Given the description of an element on the screen output the (x, y) to click on. 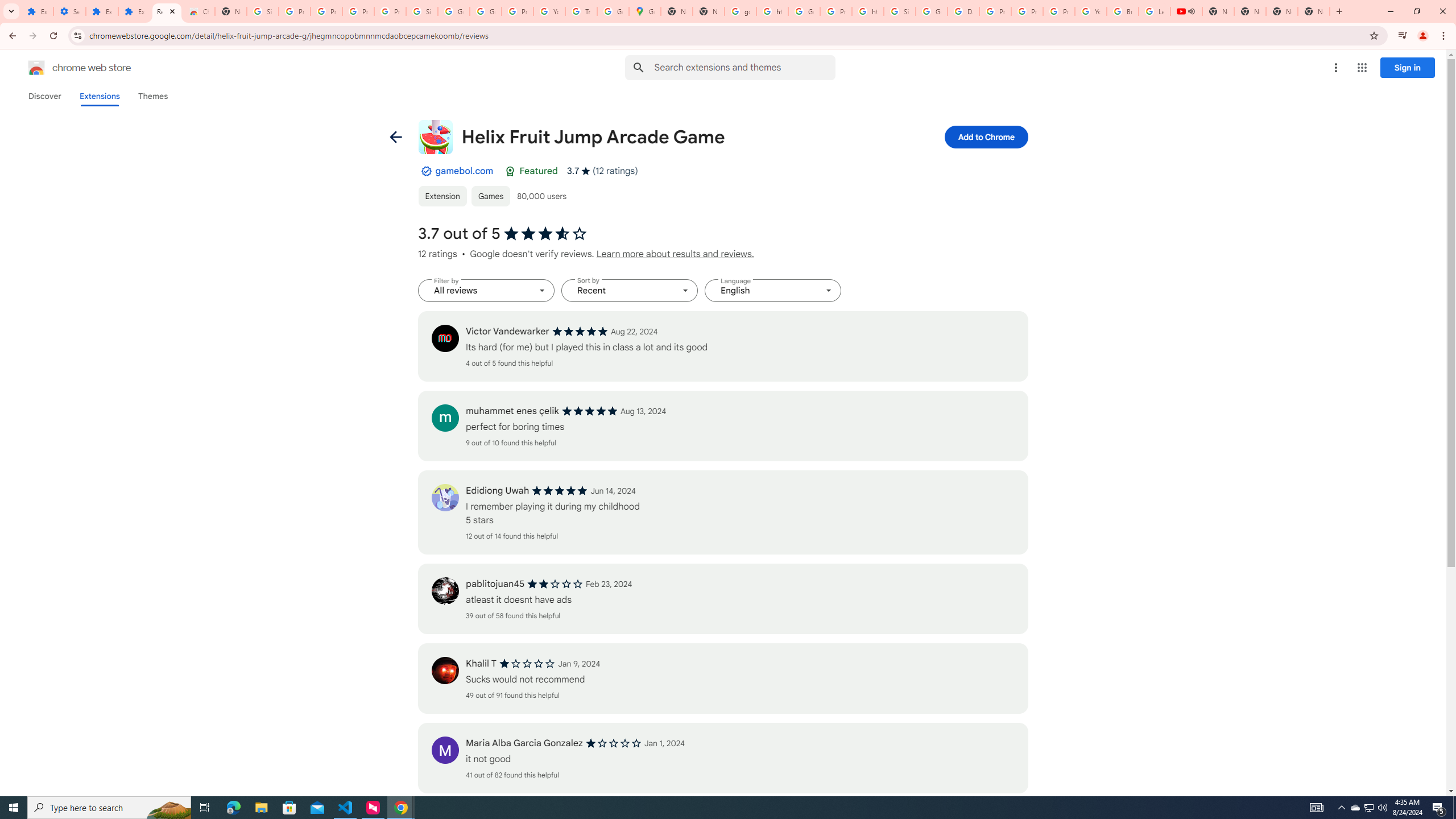
New Tab (1313, 11)
Average rating 3.7 out of 5 stars. 12 ratings. (601, 170)
Chrome Web Store logo chrome web store (67, 67)
Extensions (99, 95)
Sign in - Google Accounts (262, 11)
3.7 out of 5 stars (545, 233)
